Given the description of an element on the screen output the (x, y) to click on. 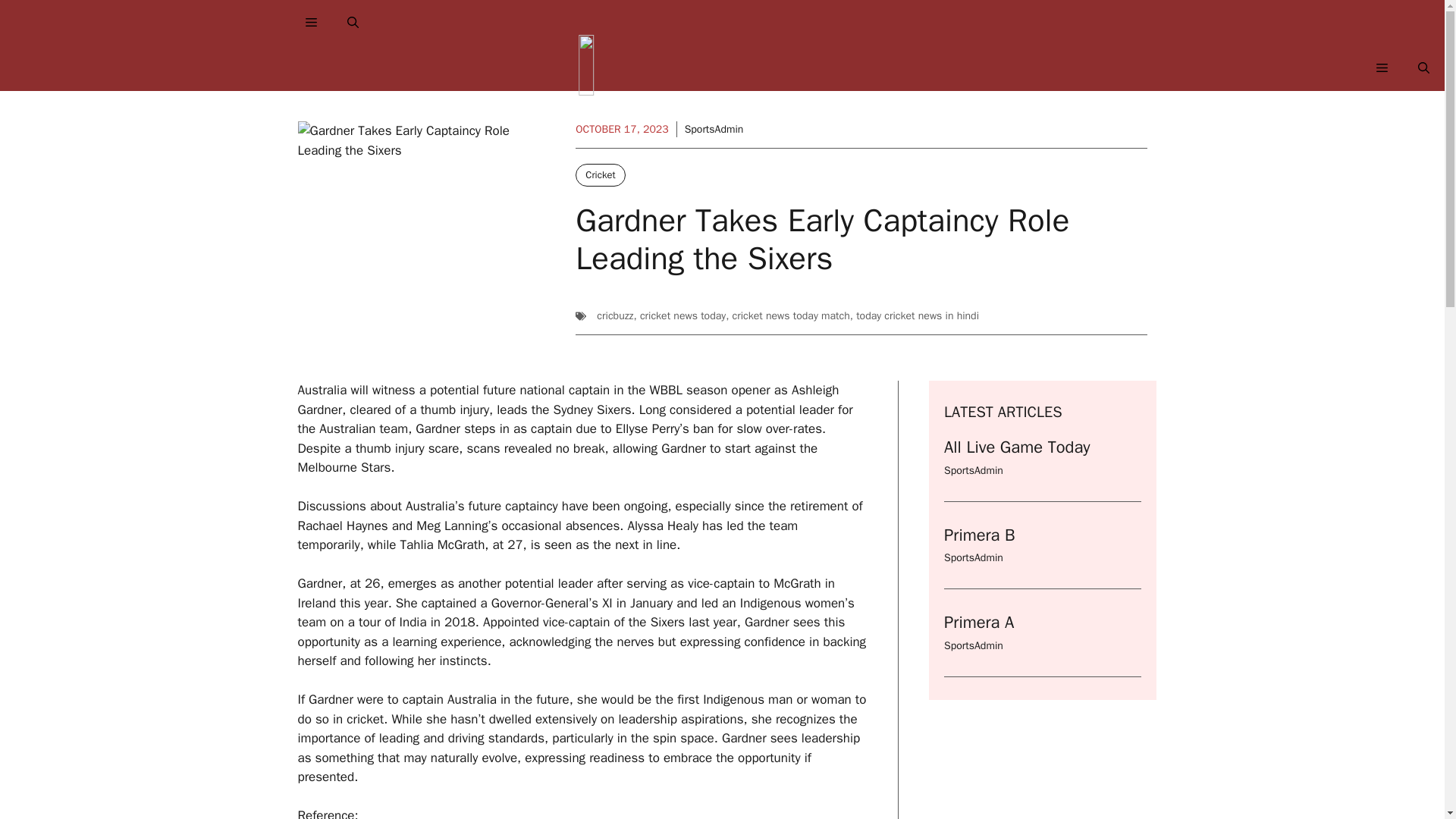
cricket news today (682, 315)
today cricket news in hindi (917, 315)
SportsAdmin (714, 129)
Primera B (978, 535)
SportsAdmin (973, 557)
cricbuzz (614, 315)
cricket news today match (791, 315)
SportsAdmin (973, 470)
Cricket (599, 174)
SportsAdmin (973, 645)
Primera A (978, 622)
All Live Game Today (1016, 446)
